Given the description of an element on the screen output the (x, y) to click on. 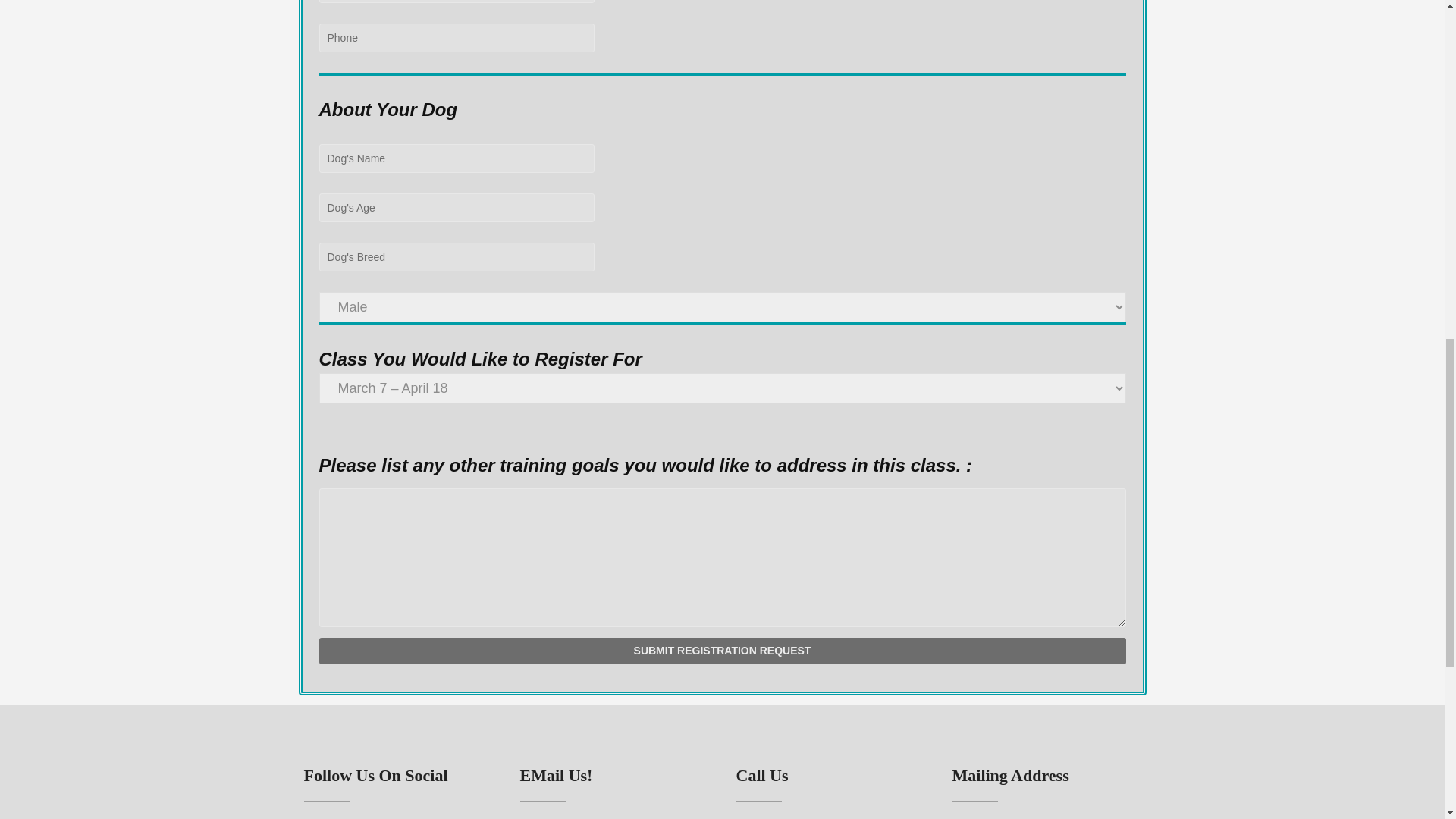
Submit Registration Request (721, 651)
Instagram (393, 818)
Submit Registration Request (721, 651)
Facebook (334, 818)
LinkedIn (363, 818)
